Given the description of an element on the screen output the (x, y) to click on. 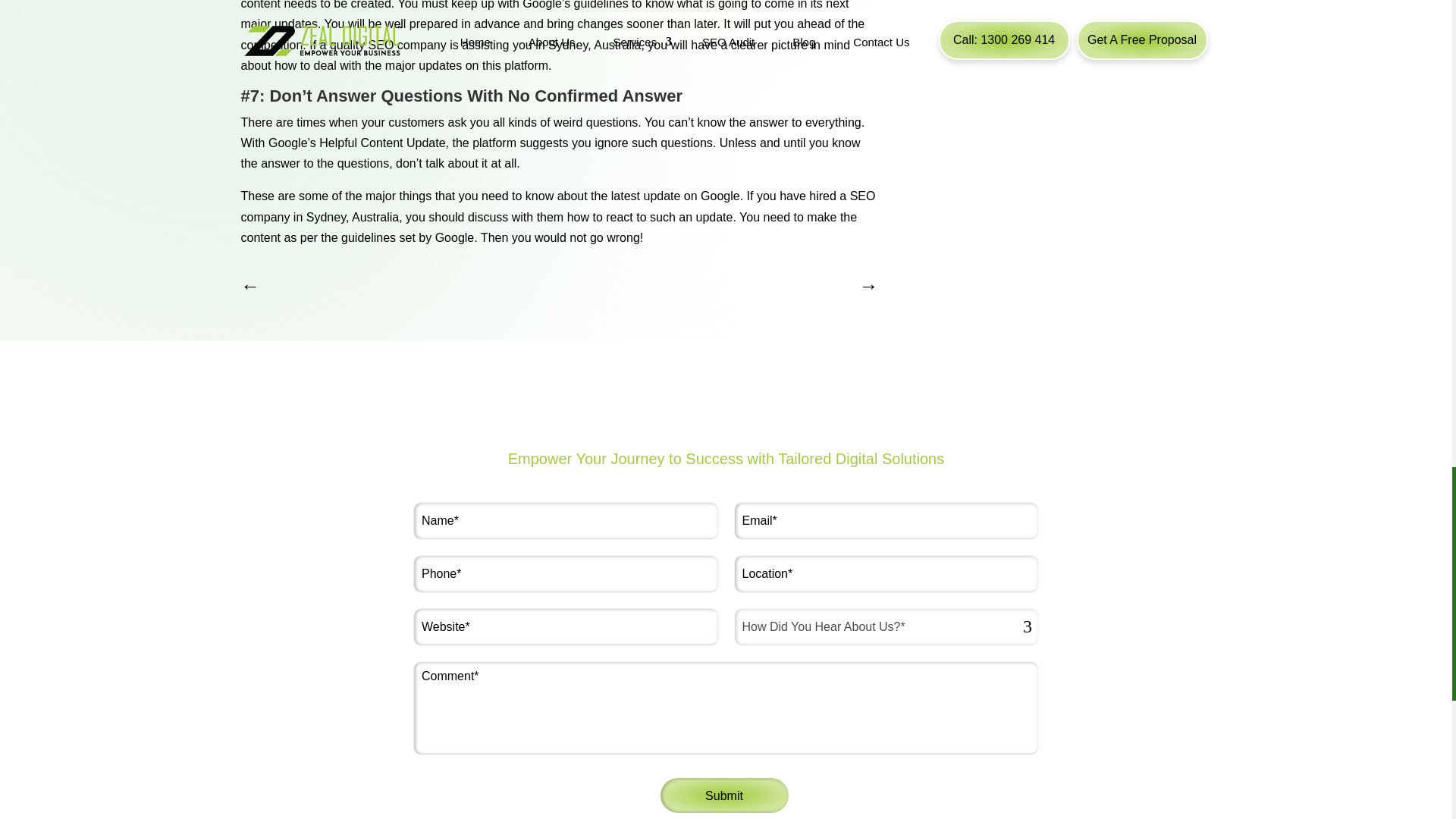
Submit (723, 795)
